Given the description of an element on the screen output the (x, y) to click on. 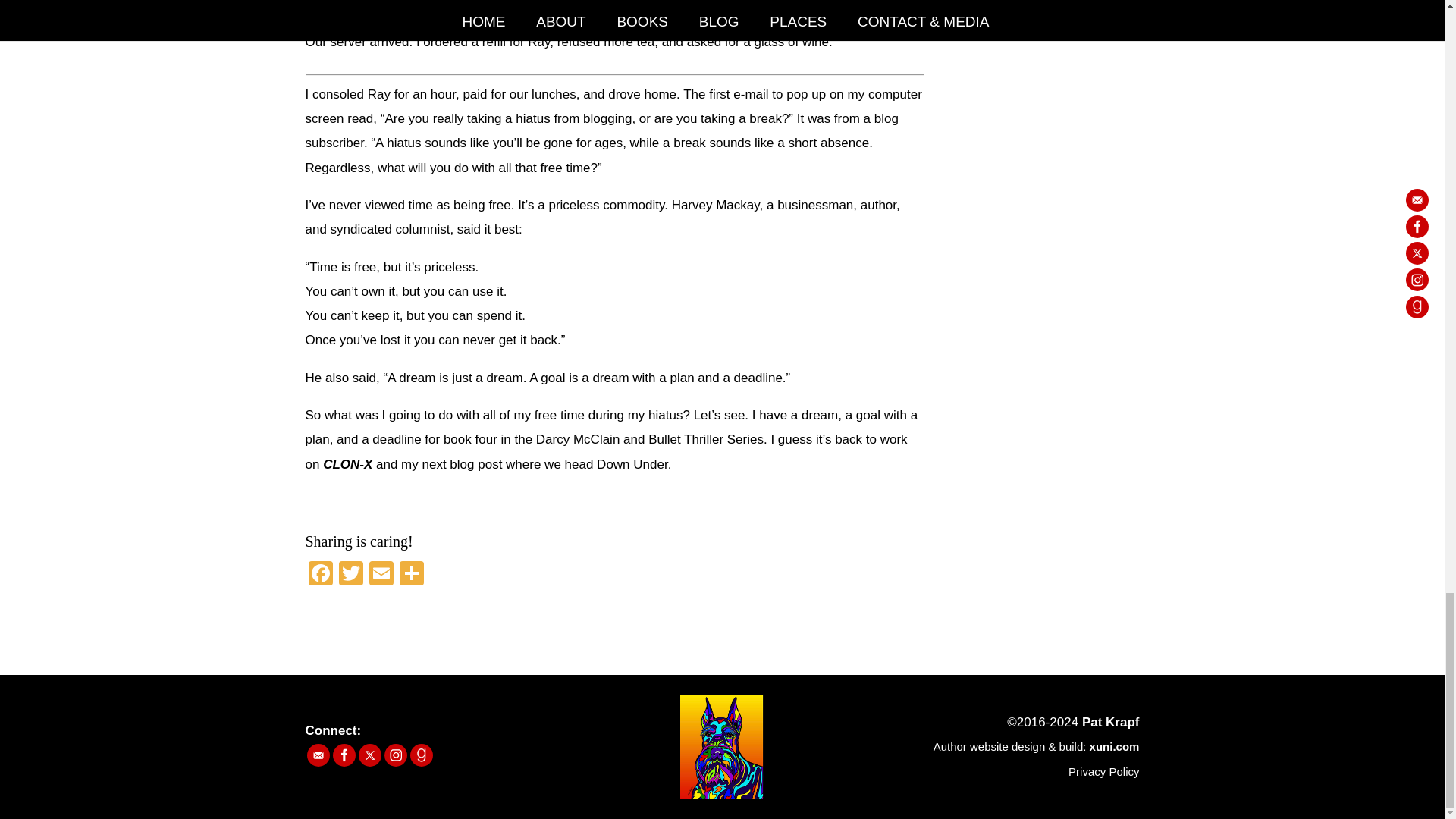
Email (380, 574)
Facebook (319, 574)
Twitter (349, 574)
Facebook (319, 574)
Email (380, 574)
Twitter (349, 574)
